Given the description of an element on the screen output the (x, y) to click on. 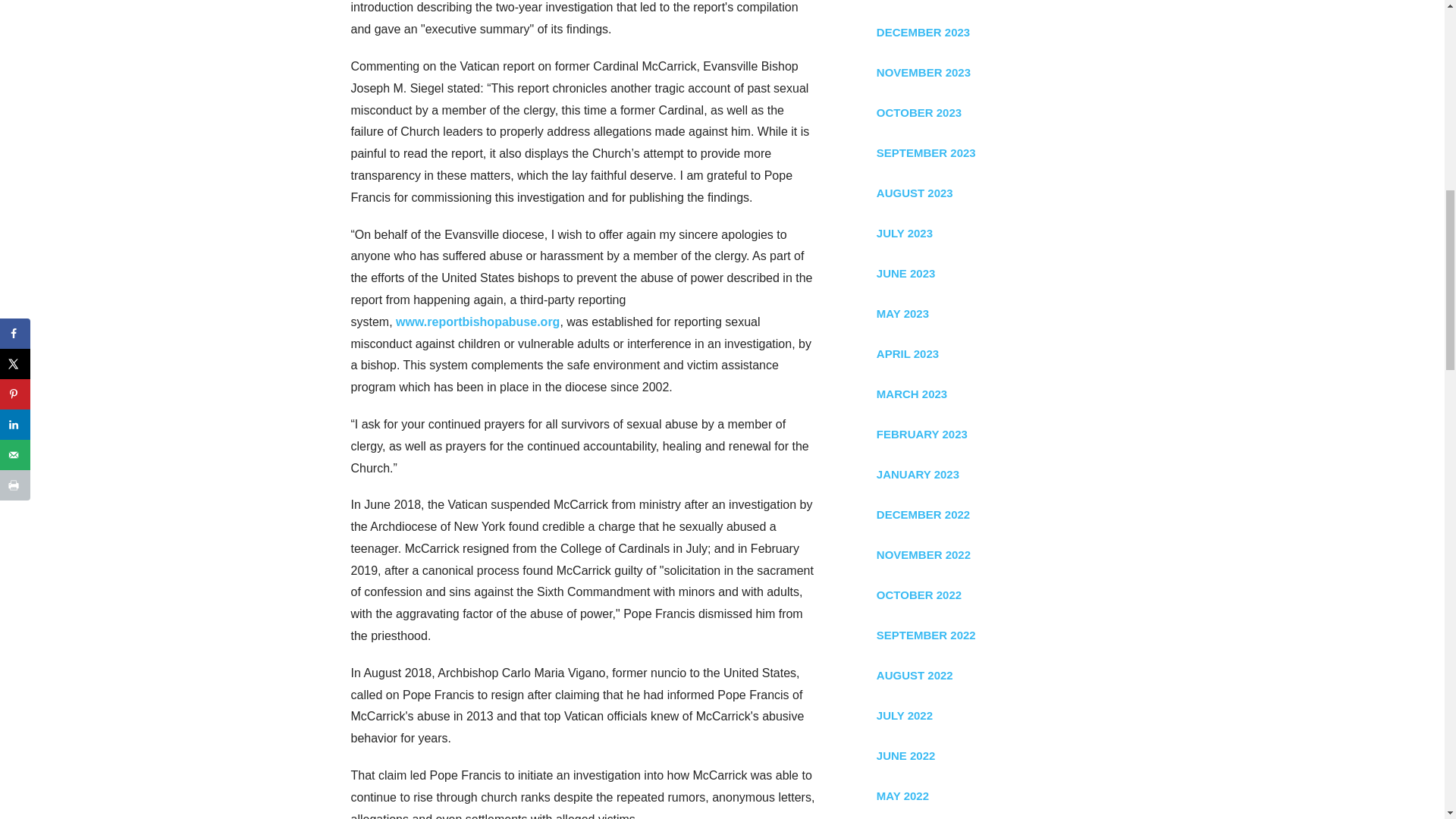
www.reportbishopabuse.org (477, 321)
